Given the description of an element on the screen output the (x, y) to click on. 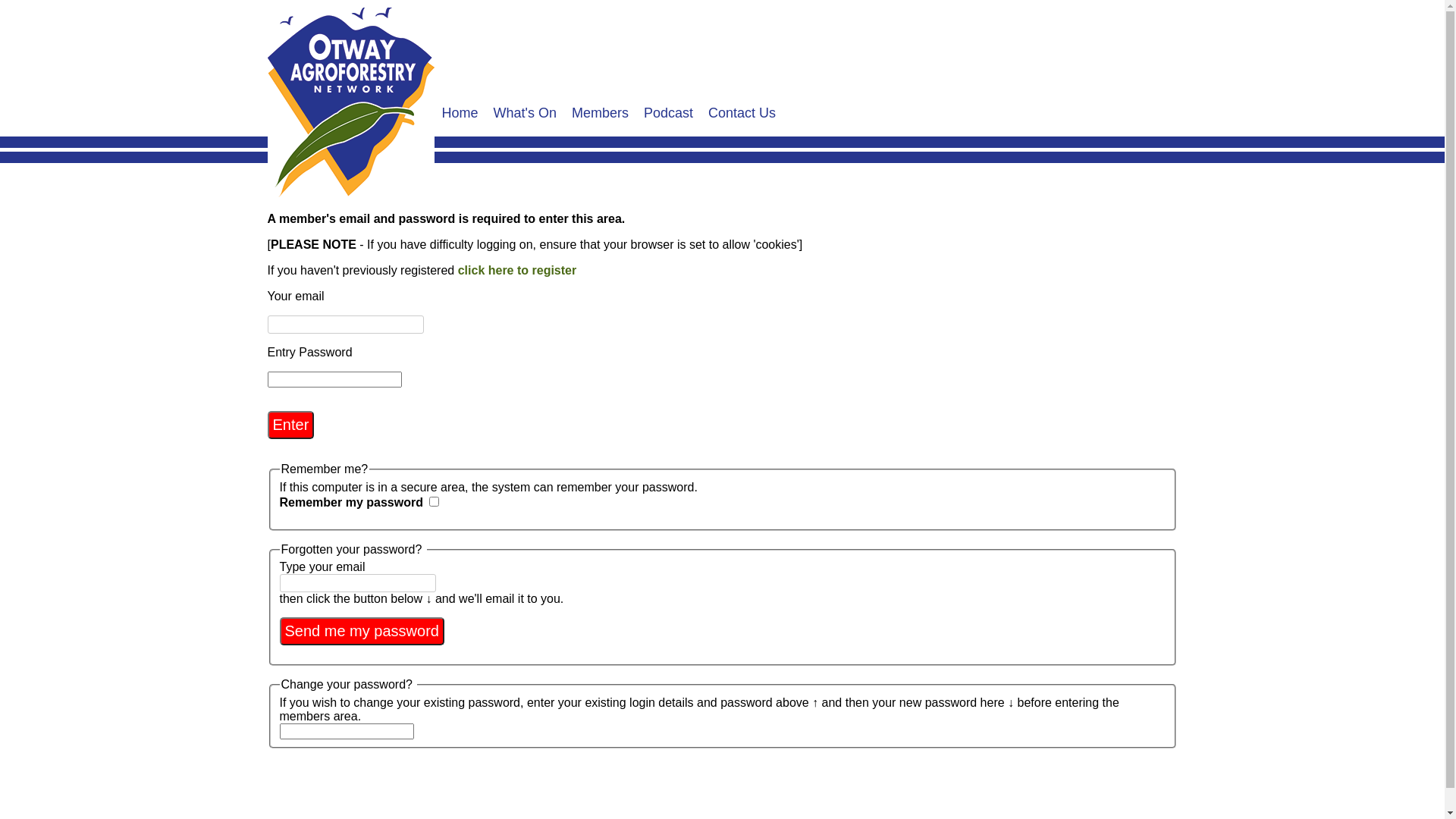
click here to register Element type: text (517, 269)
Enter Element type: text (289, 425)
Send me my password Element type: text (361, 631)
